Given the description of an element on the screen output the (x, y) to click on. 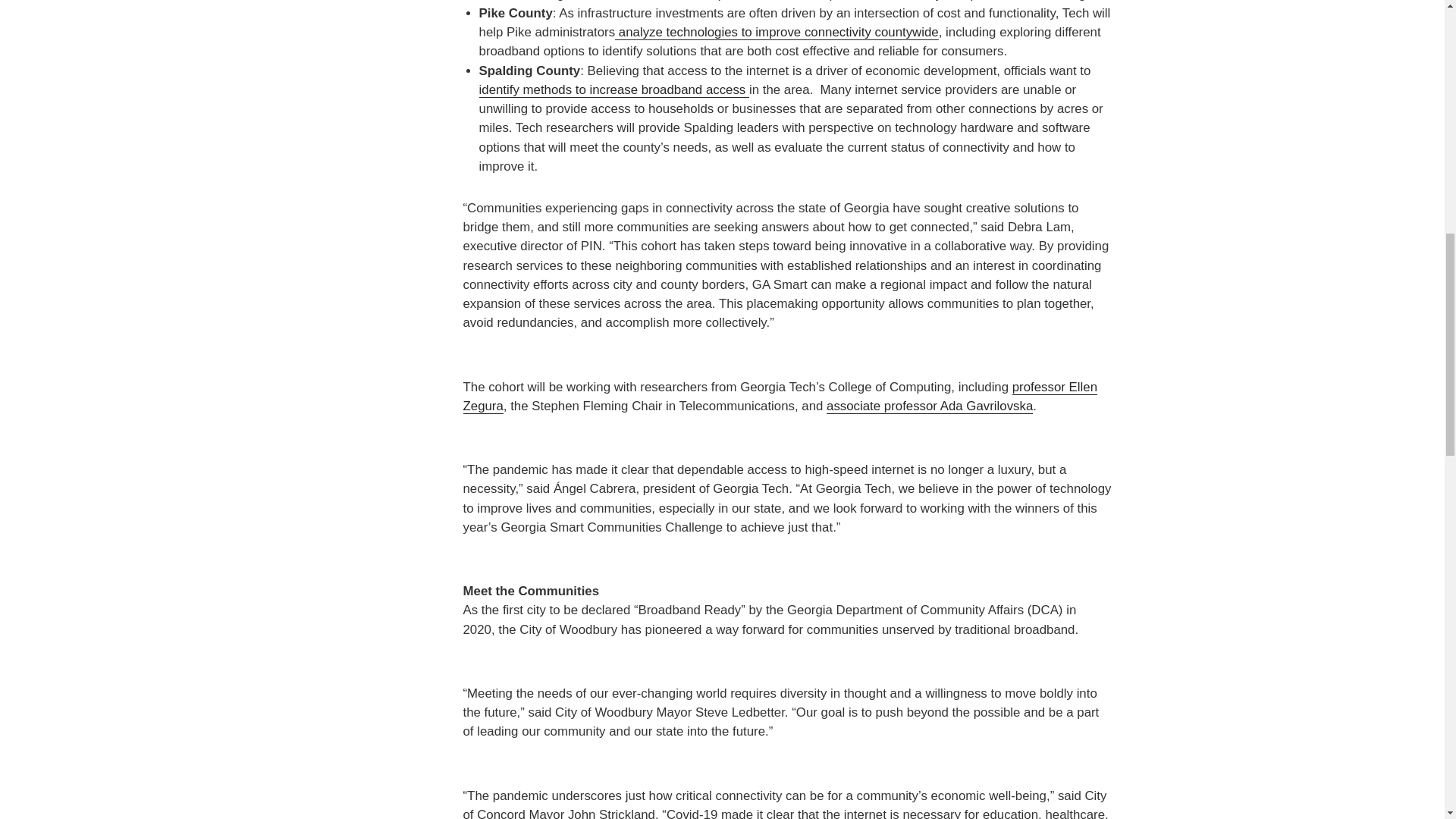
analyze technologies to improve connectivity countywide (776, 32)
